Given the description of an element on the screen output the (x, y) to click on. 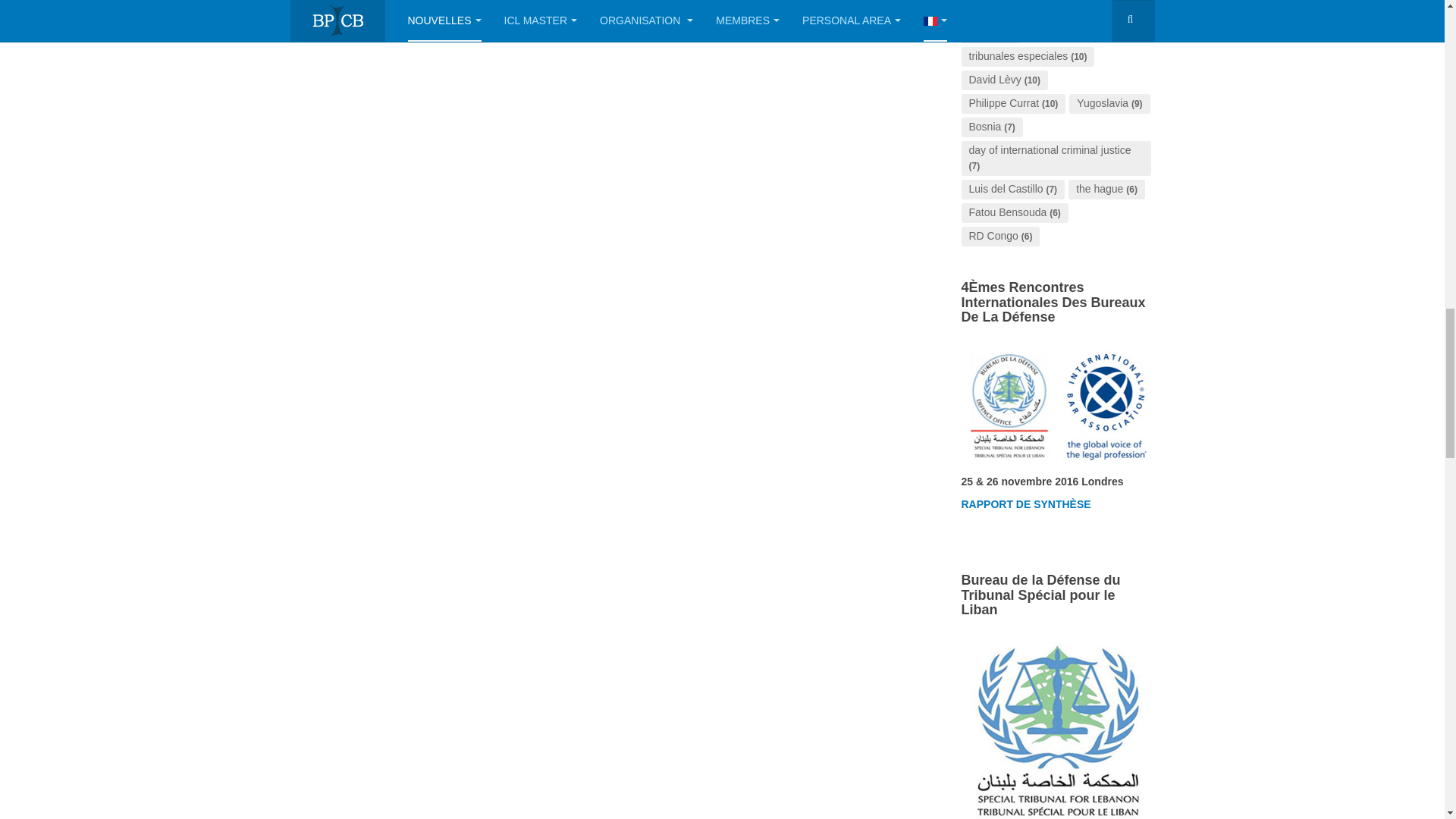
4Th International Meeting Of Defence Offices  (1025, 503)
